Given the description of an element on the screen output the (x, y) to click on. 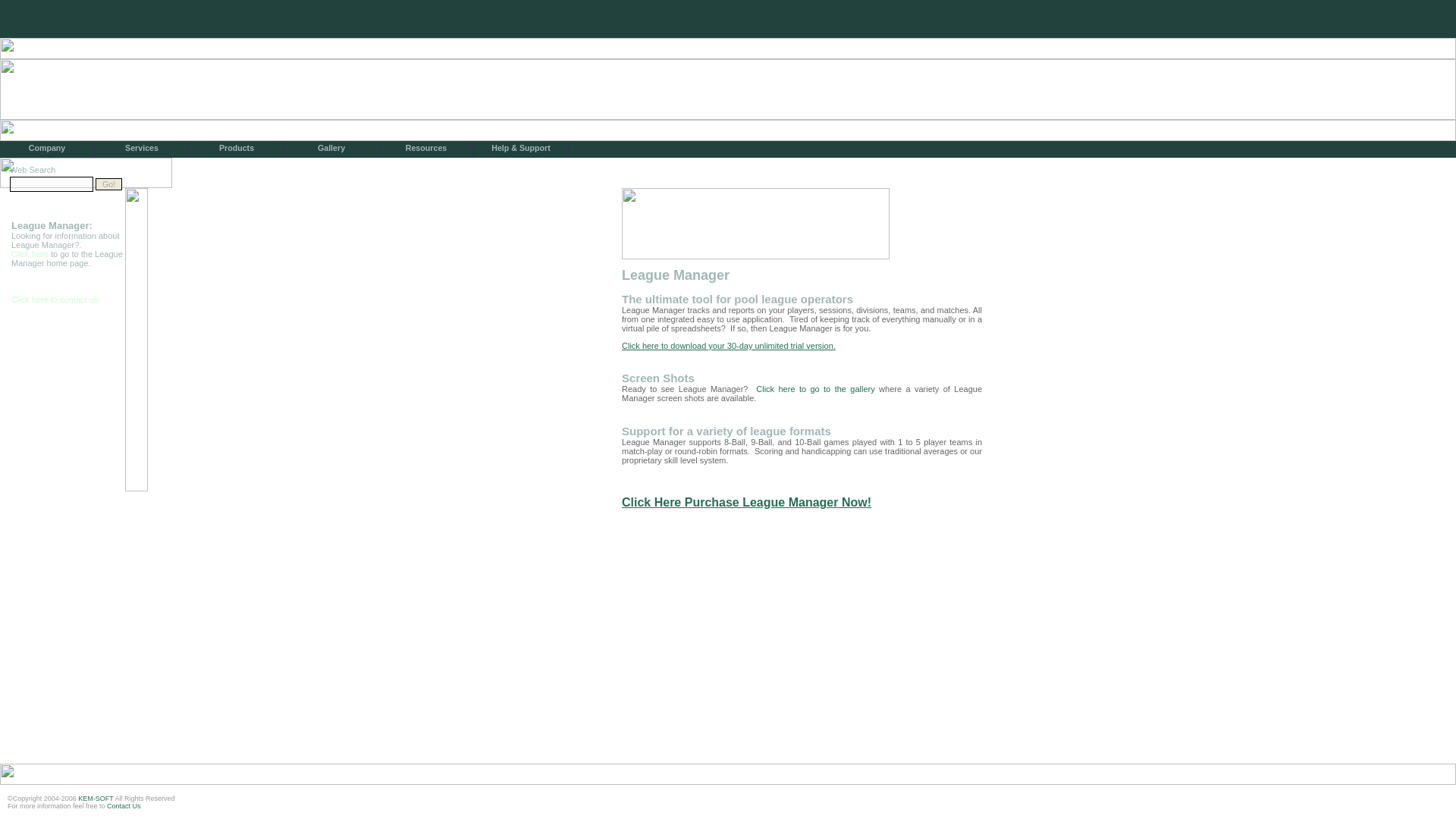
Click here to contact us (54, 298)
Click here to go to the gallery (815, 388)
Advertisement (798, 616)
Go! (109, 184)
Services (141, 149)
Resources (426, 149)
Click here to download your 30-day unlimited trial version. (728, 345)
Click here (30, 253)
Company (47, 149)
Go! (109, 184)
Gallery (330, 149)
Go! (109, 184)
Contact Us (123, 805)
Products (236, 149)
Click Here Purchase League Manager Now! (745, 502)
